Given the description of an element on the screen output the (x, y) to click on. 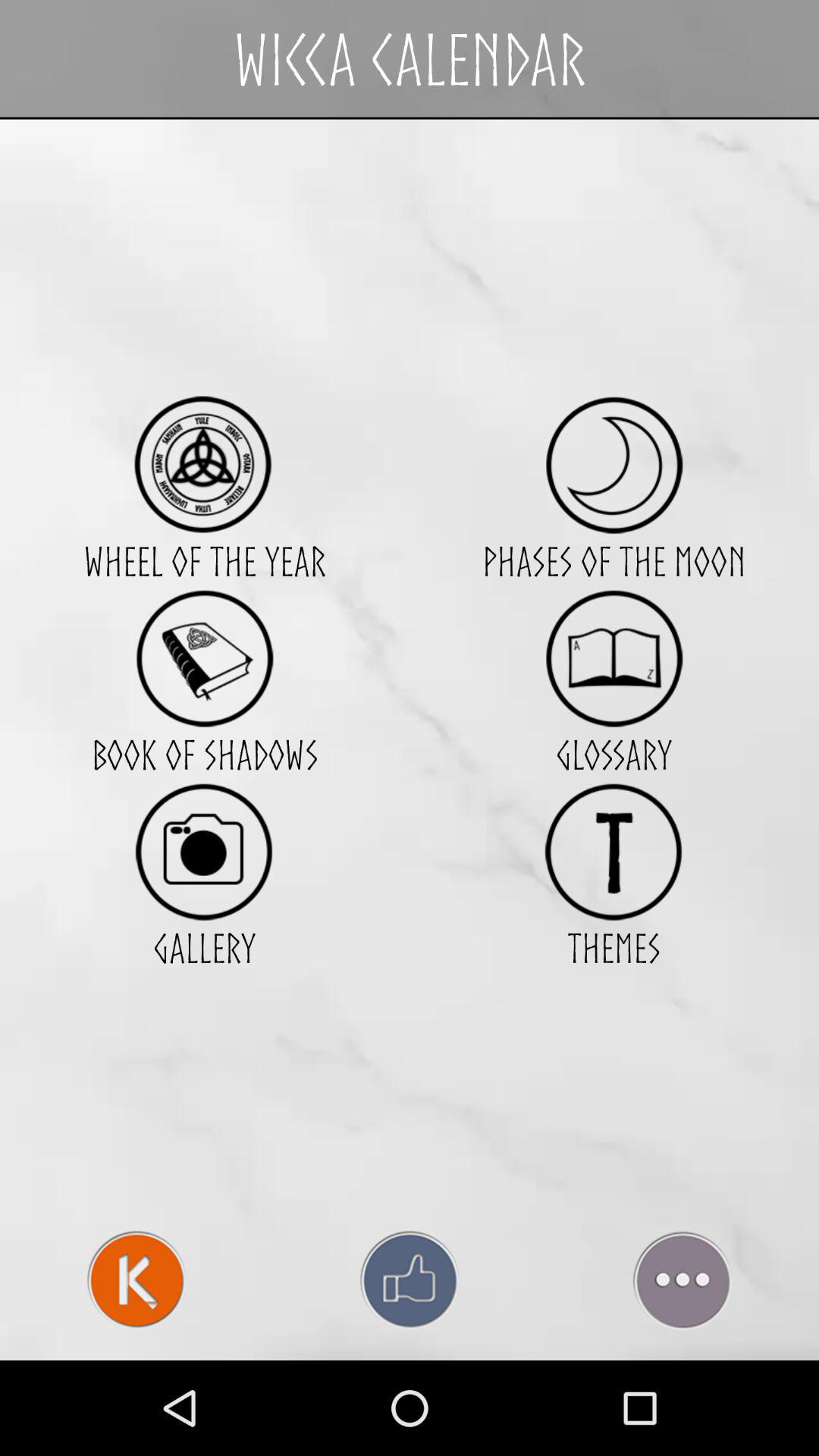
choose a calendar (204, 464)
